Given the description of an element on the screen output the (x, y) to click on. 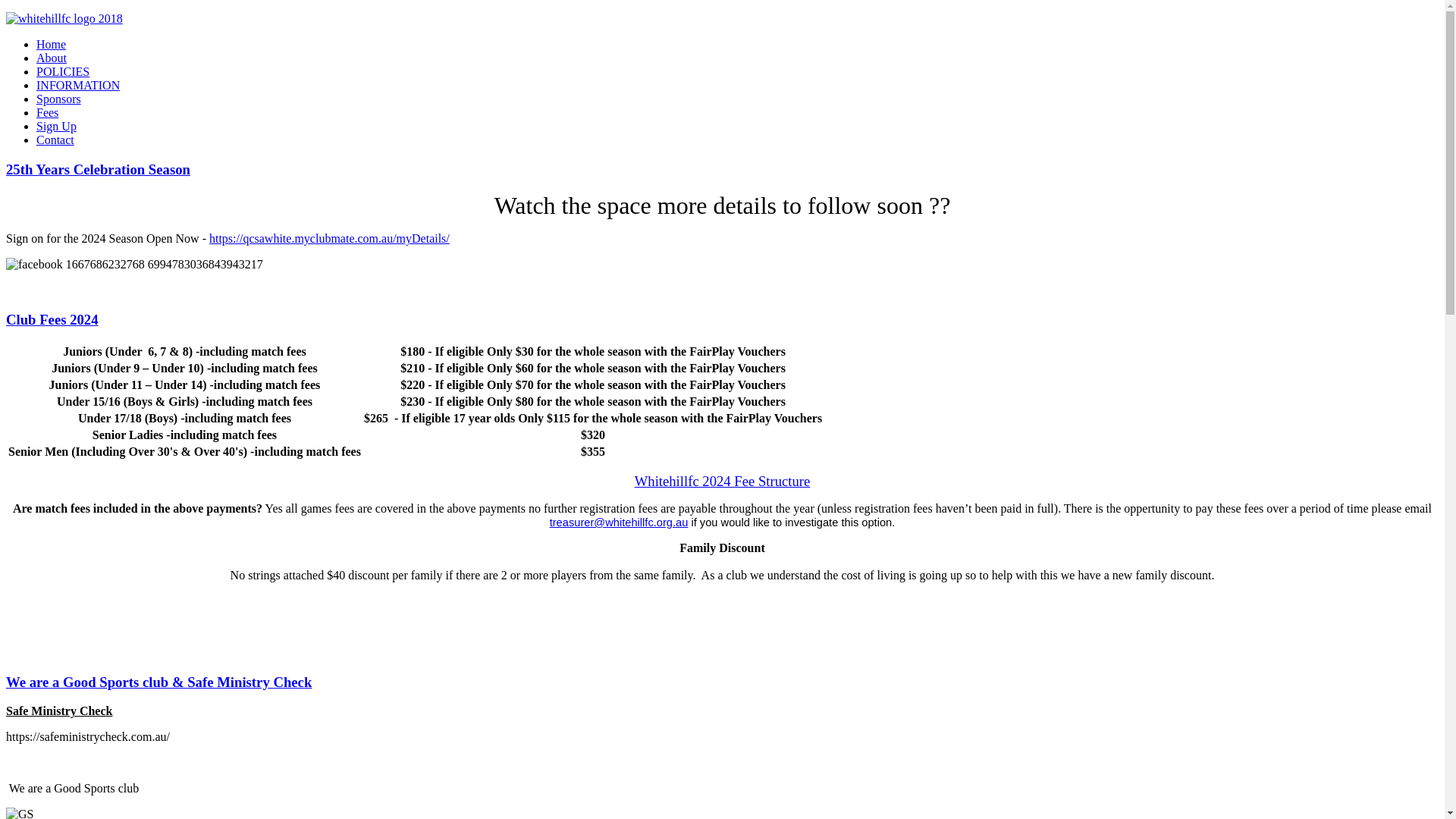
Whitehillfc 2024 Fee Structure Element type: text (722, 481)
treasurer@whitehillfc.org.au Element type: text (618, 522)
25th Years Celebration Season Element type: text (98, 169)
https://qcsawhite.myclubmate.com.au/myDetails/ Element type: text (329, 238)
https://safeministrycheck.com.au/ Element type: text (87, 736)
Sponsors Element type: text (58, 98)
Home Element type: text (50, 43)
INFORMATION Element type: text (77, 84)
Fees Element type: text (47, 112)
Club Fees 2024 Element type: text (52, 319)
About Element type: text (51, 57)
Sign Up Element type: text (56, 125)
We are a Good Sports club & Safe Ministry Check Element type: text (158, 682)
Contact Element type: text (55, 139)
POLICIES Element type: text (62, 71)
